Given the description of an element on the screen output the (x, y) to click on. 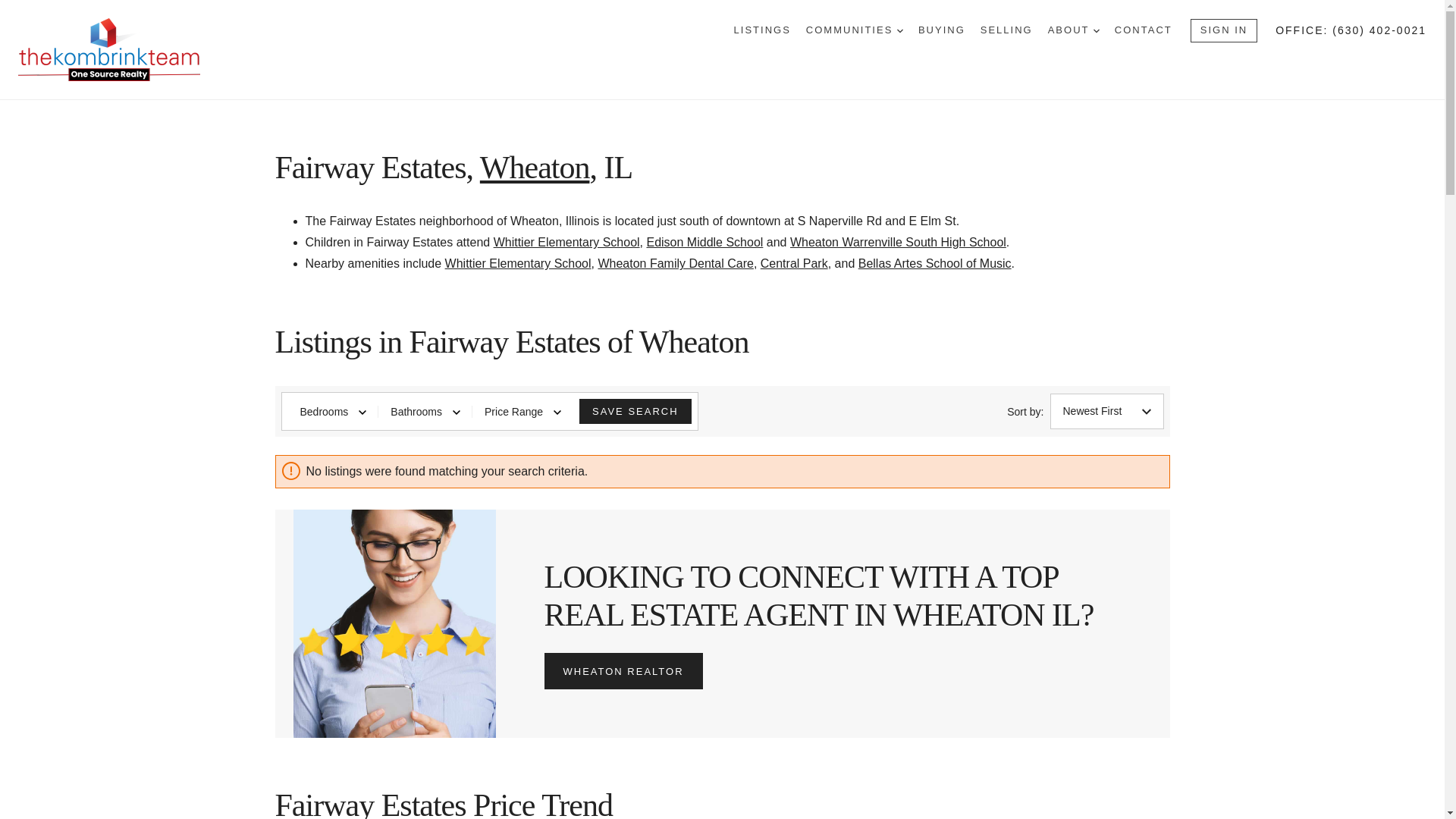
Whittier Elementary School (566, 241)
SIGN IN (1224, 30)
Wheaton Family Dental Care (674, 263)
Bellas Artes School of Music (935, 263)
Wheaton Warrenville South High School (898, 241)
LISTINGS (761, 30)
ABOUT DROPDOWN ARROW (1073, 30)
COMMUNITIES DROPDOWN ARROW (854, 30)
Whittier Elementary School (518, 263)
SELLING (1005, 30)
